Given the description of an element on the screen output the (x, y) to click on. 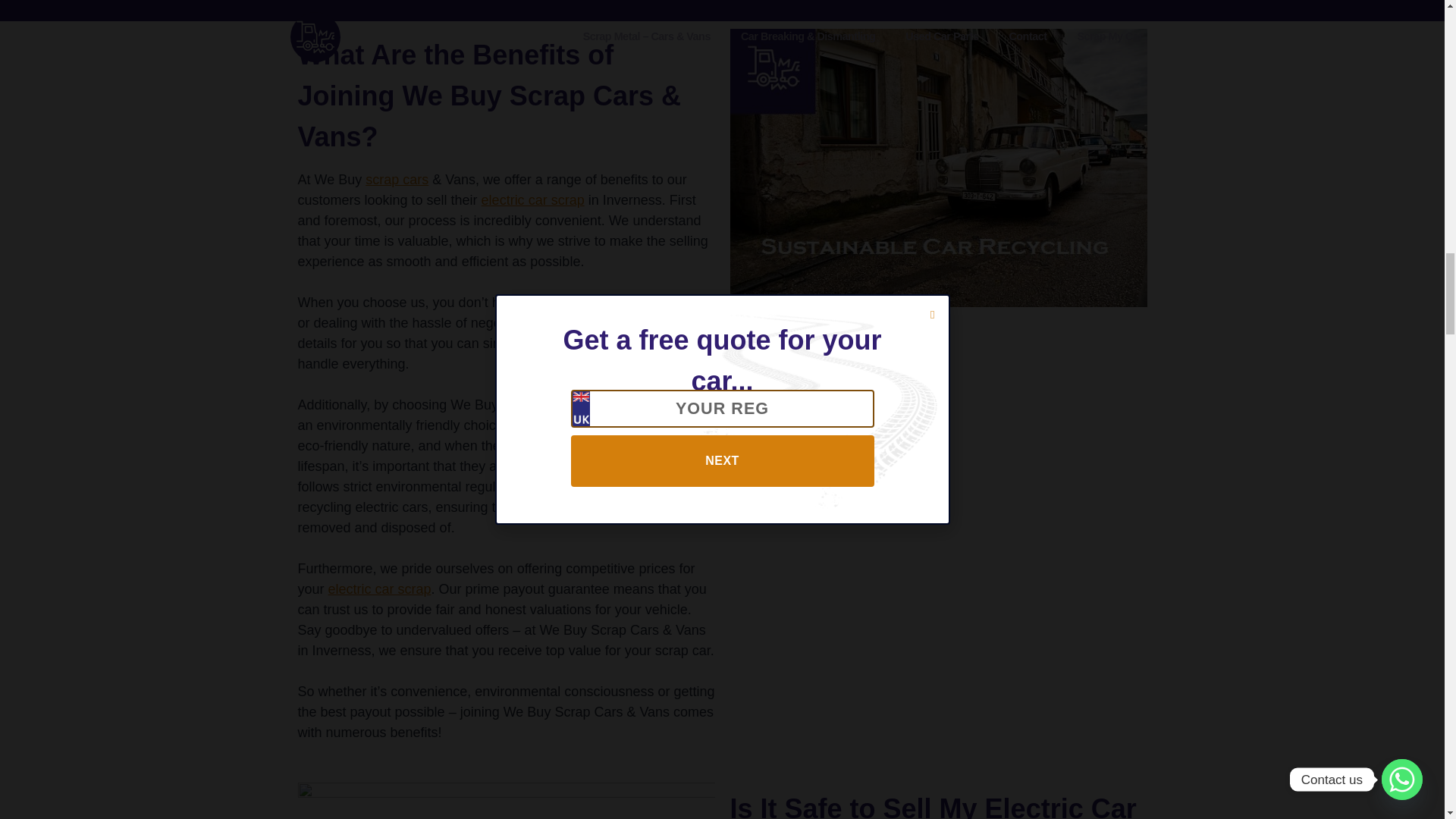
electric car scrap (533, 200)
scrap cars (533, 404)
scrap cars (396, 179)
